Given the description of an element on the screen output the (x, y) to click on. 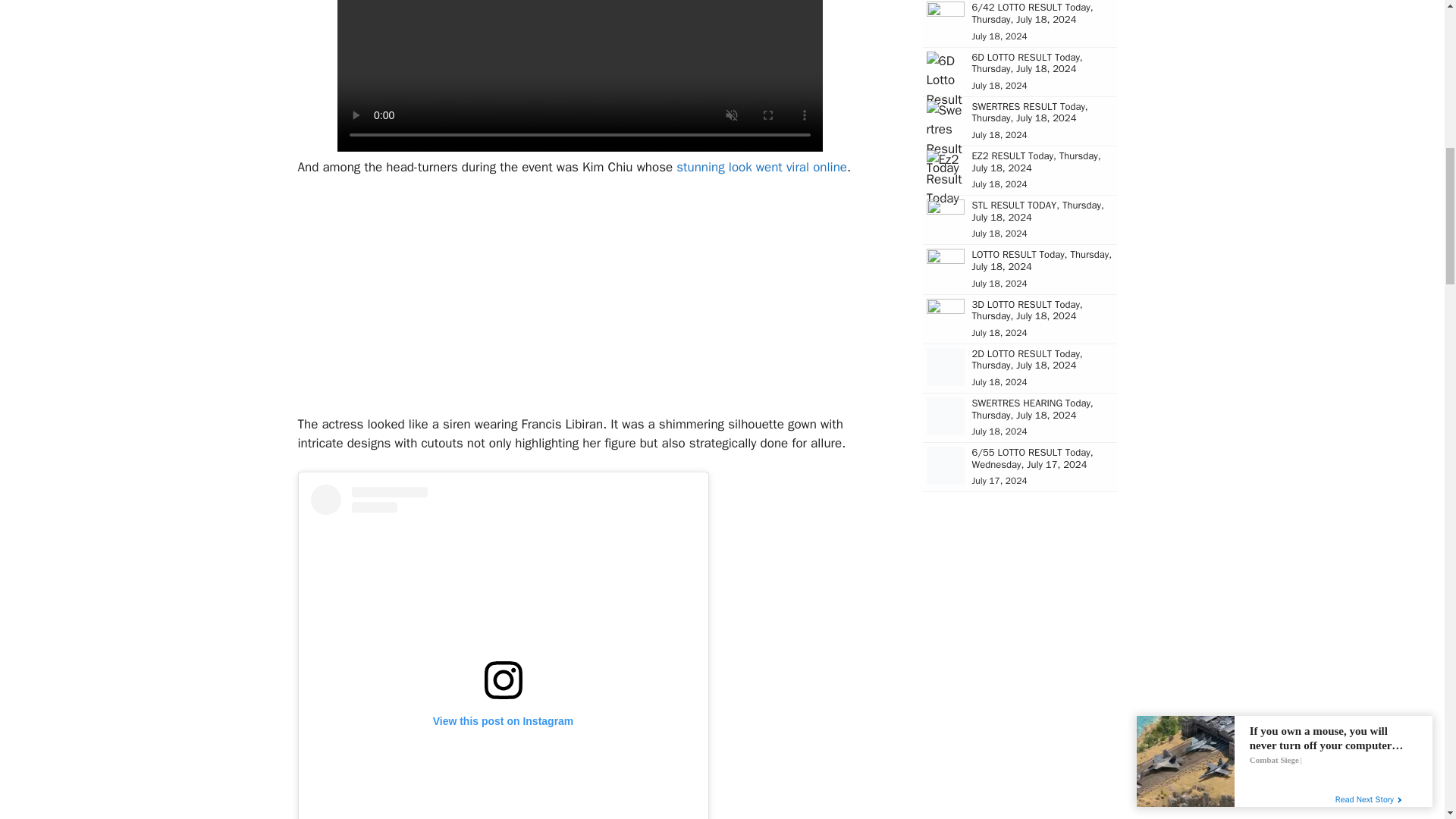
Advertisement (579, 302)
